Given the description of an element on the screen output the (x, y) to click on. 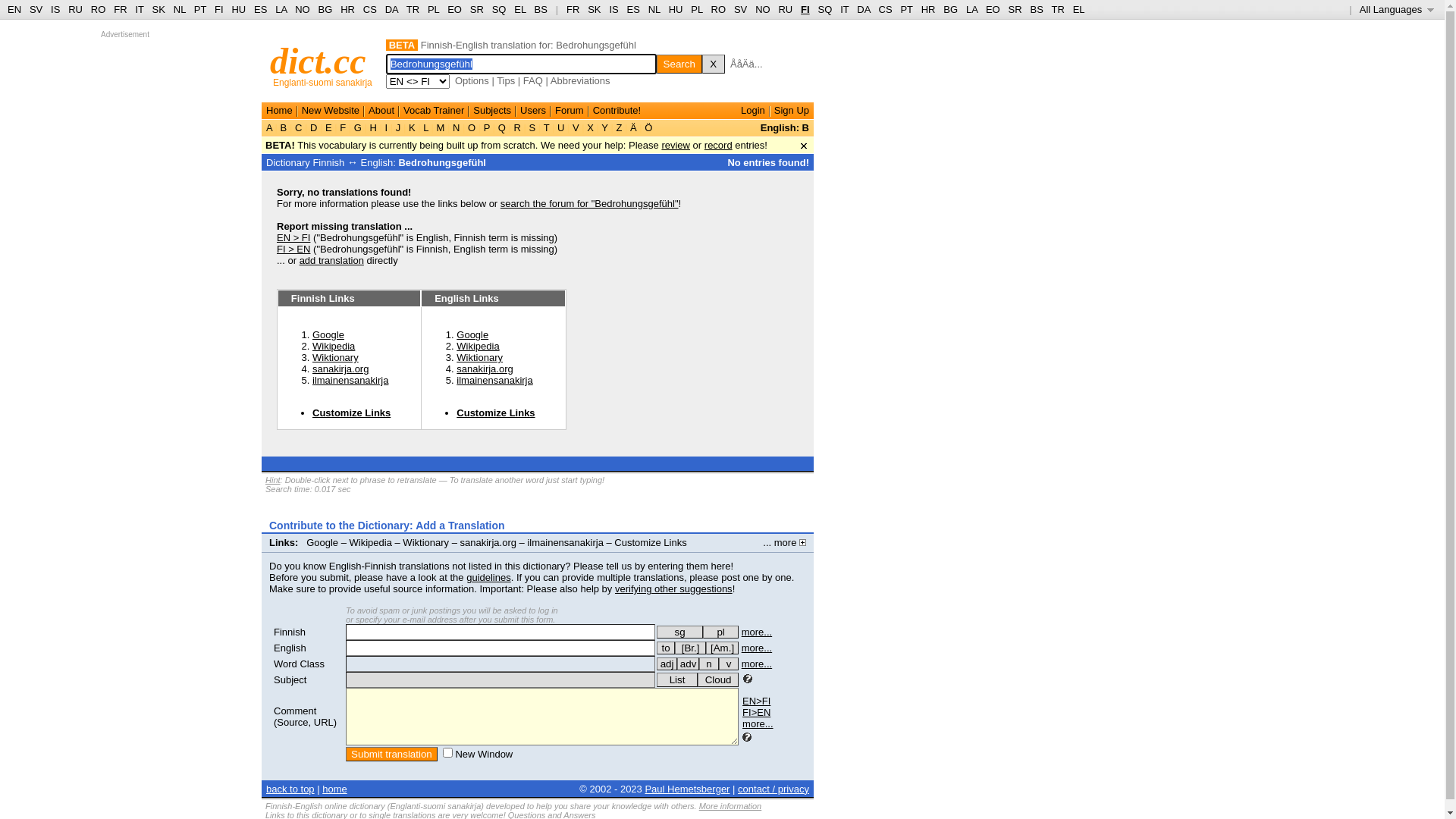
U Element type: text (560, 127)
C Element type: text (297, 127)
HR Element type: text (928, 9)
ES Element type: text (633, 9)
X Element type: text (713, 63)
Contribute to the Dictionary: Add a Translation Element type: text (387, 525)
Wikipedia Element type: text (477, 345)
M Element type: text (440, 127)
A Element type: text (270, 127)
FI>EN Element type: text (756, 712)
back to top Element type: text (290, 788)
Wikipedia Element type: text (333, 345)
About Element type: text (381, 110)
Y Element type: text (604, 127)
PL Element type: text (433, 9)
(esp.) American English Element type: hover (722, 647)
FI > EN Element type: text (293, 248)
adj Element type: text (666, 663)
EN Element type: text (14, 9)
Customize Links Element type: text (650, 542)
NO Element type: text (302, 9)
n Element type: text (708, 663)
FI Element type: text (804, 9)
SQ Element type: text (824, 9)
Customize Links Element type: text (495, 412)
Contribute! Element type: text (617, 110)
sanakirja.org Element type: text (340, 368)
BG Element type: text (325, 9)
... more Element type: text (784, 542)
[Br.] Element type: text (690, 647)
ilmainensanakirja Element type: text (564, 542)
Wikipedia Element type: text (370, 542)
I Element type: text (386, 127)
home Element type: text (334, 788)
dict.cc Element type: text (317, 60)
Subjects Element type: text (492, 110)
S Element type: text (532, 127)
New Website Element type: text (330, 110)
more... Element type: text (756, 631)
DA Element type: text (391, 9)
verifying other suggestions Element type: text (673, 588)
Z Element type: text (618, 127)
singulaari (substantiivit) Element type: hover (679, 631)
Login Element type: text (752, 110)
Search Element type: text (679, 63)
D Element type: text (313, 127)
HU Element type: text (238, 9)
ilmainensanakirja Element type: text (494, 379)
EL Element type: text (1079, 9)
SR Element type: text (1015, 9)
NO Element type: text (762, 9)
LA Element type: text (971, 9)
ilmainensanakirja Element type: text (350, 379)
more... Element type: text (756, 663)
P Element type: text (486, 127)
FR Element type: text (572, 9)
B Element type: text (283, 127)
TR Element type: text (412, 9)
BS Element type: text (540, 9)
Paul Hemetsberger Element type: text (686, 788)
IS Element type: text (54, 9)
record Element type: text (718, 144)
NL Element type: text (654, 9)
EN>FI Element type: text (756, 700)
Hint Element type: text (272, 479)
List Element type: text (676, 679)
R Element type: text (517, 127)
Wiktionary Element type: text (335, 357)
pl Element type: text (720, 631)
SV Element type: text (35, 9)
N Element type: text (455, 127)
Abbreviations Element type: text (580, 80)
more... Element type: text (757, 723)
PT Element type: text (906, 9)
EL Element type: text (519, 9)
IT Element type: text (844, 9)
Submit translation Element type: text (391, 753)
DA Element type: text (862, 9)
sanakirja.org Element type: text (484, 368)
ES Element type: text (260, 9)
More information Element type: text (730, 805)
HU Element type: text (675, 9)
RU Element type: text (75, 9)
E Element type: text (328, 127)
V Element type: text (575, 127)
SV Element type: text (740, 9)
RO Element type: text (98, 9)
Options Element type: text (472, 80)
Customize Links Element type: text (351, 412)
FI Element type: text (218, 9)
IS Element type: text (613, 9)
(esp.) British English Element type: hover (690, 647)
Google Element type: text (328, 334)
PL Element type: text (696, 9)
add translation Element type: text (331, 260)
adv Element type: text (688, 663)
RO Element type: text (718, 9)
Vocab Trainer Element type: text (433, 110)
Google Element type: text (472, 334)
SQ Element type: text (499, 9)
Home Element type: text (279, 110)
Q Element type: text (501, 127)
SK Element type: text (158, 9)
v Element type: text (728, 663)
Sign Up Element type: text (791, 110)
Wiktionary Element type: text (479, 357)
TR Element type: text (1057, 9)
English Element type: text (289, 647)
NL Element type: text (179, 9)
CS Element type: text (369, 9)
F Element type: text (342, 127)
guidelines Element type: text (488, 577)
HR Element type: text (347, 9)
sanakirja.org Element type: text (488, 542)
more... Element type: text (756, 647)
[Am.] Element type: text (722, 647)
Dictionary Element type: text (288, 162)
H Element type: text (373, 127)
BS Element type: text (1035, 9)
to Element type: text (665, 647)
EO Element type: text (992, 9)
SK Element type: text (593, 9)
BG Element type: text (950, 9)
T Element type: text (546, 127)
Wiktionary Element type: text (425, 542)
for verbs Element type: hover (665, 647)
FR Element type: text (119, 9)
PT Element type: text (200, 9)
FAQ Element type: text (532, 80)
contact / privacy Element type: text (773, 788)
review Element type: text (675, 144)
Tips Element type: text (505, 80)
Forum Element type: text (569, 110)
K Element type: text (411, 127)
Users Element type: text (533, 110)
LA Element type: text (280, 9)
G Element type: text (357, 127)
Finnish Element type: text (289, 631)
EN > FI Element type: text (293, 237)
sg Element type: text (679, 631)
Google Element type: text (322, 542)
RU Element type: text (785, 9)
O Element type: text (470, 127)
X Element type: text (590, 127)
L Element type: text (425, 127)
CS Element type: text (884, 9)
EO Element type: text (454, 9)
Cloud Element type: text (717, 679)
J Element type: text (397, 127)
IT Element type: text (138, 9)
pluraali (substantiivit) Element type: hover (720, 631)
SR Element type: text (476, 9)
All Languages  Element type: text (1396, 9)
English: B Element type: text (784, 127)
